Given the description of an element on the screen output the (x, y) to click on. 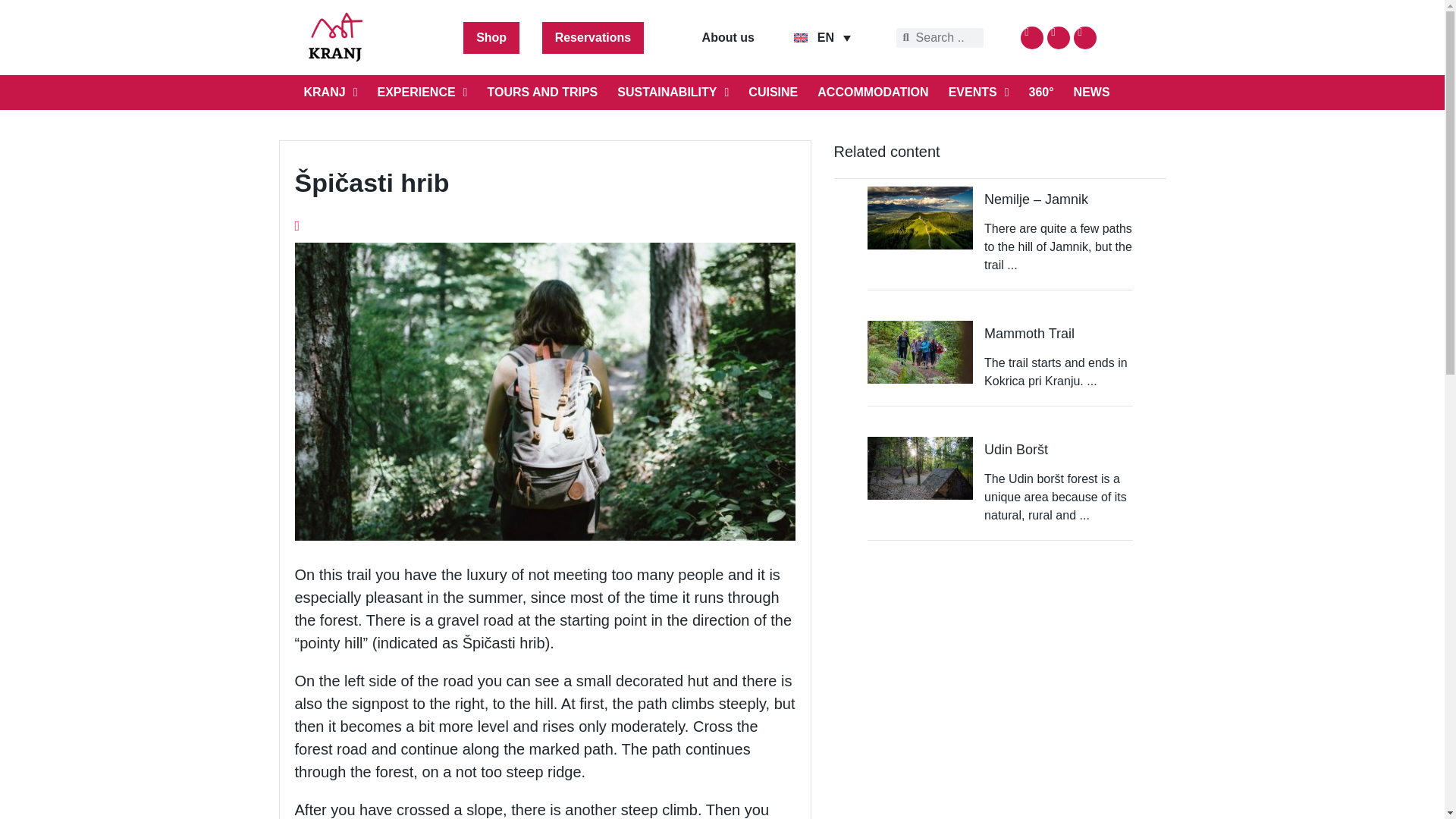
KRANJ (331, 92)
EN (822, 37)
TOURS AND TRIPS (542, 92)
About us (727, 37)
SUSTAINABILITY (672, 92)
Reservations (593, 38)
EXPERIENCE (421, 92)
udin-borst.w680h405c (920, 467)
Shop (491, 38)
